Given the description of an element on the screen output the (x, y) to click on. 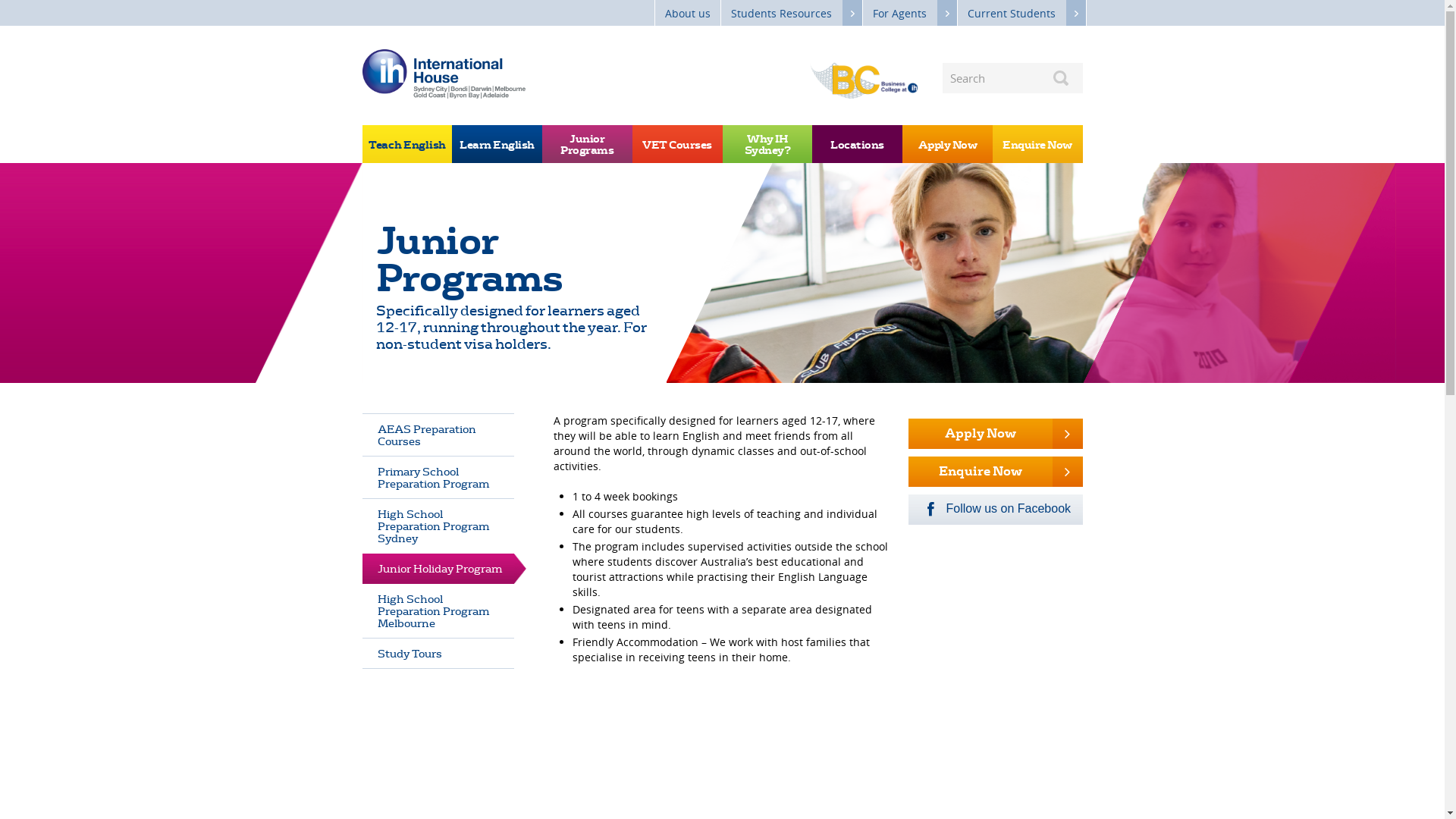
Apply Now Element type: text (995, 433)
Search Element type: text (1060, 77)
VET Courses Element type: text (677, 144)
High School Preparation Program Melbourne Element type: text (438, 610)
International House Sydney Element type: hover (443, 73)
ihBC Element type: hover (863, 79)
About us Element type: text (687, 12)
Apply Now Element type: text (947, 144)
AEAS Preparation Courses Element type: text (438, 434)
Junior Holiday Program Element type: text (438, 568)
For Agents Element type: text (909, 12)
Enquire Now Element type: text (1037, 144)
Junior Programs Element type: text (587, 144)
Current Students Element type: text (1021, 12)
Students Resources Element type: text (790, 12)
High School Preparation Program Sydney Element type: text (438, 525)
Follow us on Facebook Element type: text (995, 509)
Study Tours Element type: text (438, 653)
Teach English Element type: text (407, 144)
Learn English Element type: text (496, 144)
Enquire Now Element type: text (995, 471)
Primary School Preparation Program Element type: text (438, 477)
Junior Programs Element type: hover (879, 272)
Locations Element type: text (857, 144)
Why IH Sydney? Element type: text (766, 144)
